Given the description of an element on the screen output the (x, y) to click on. 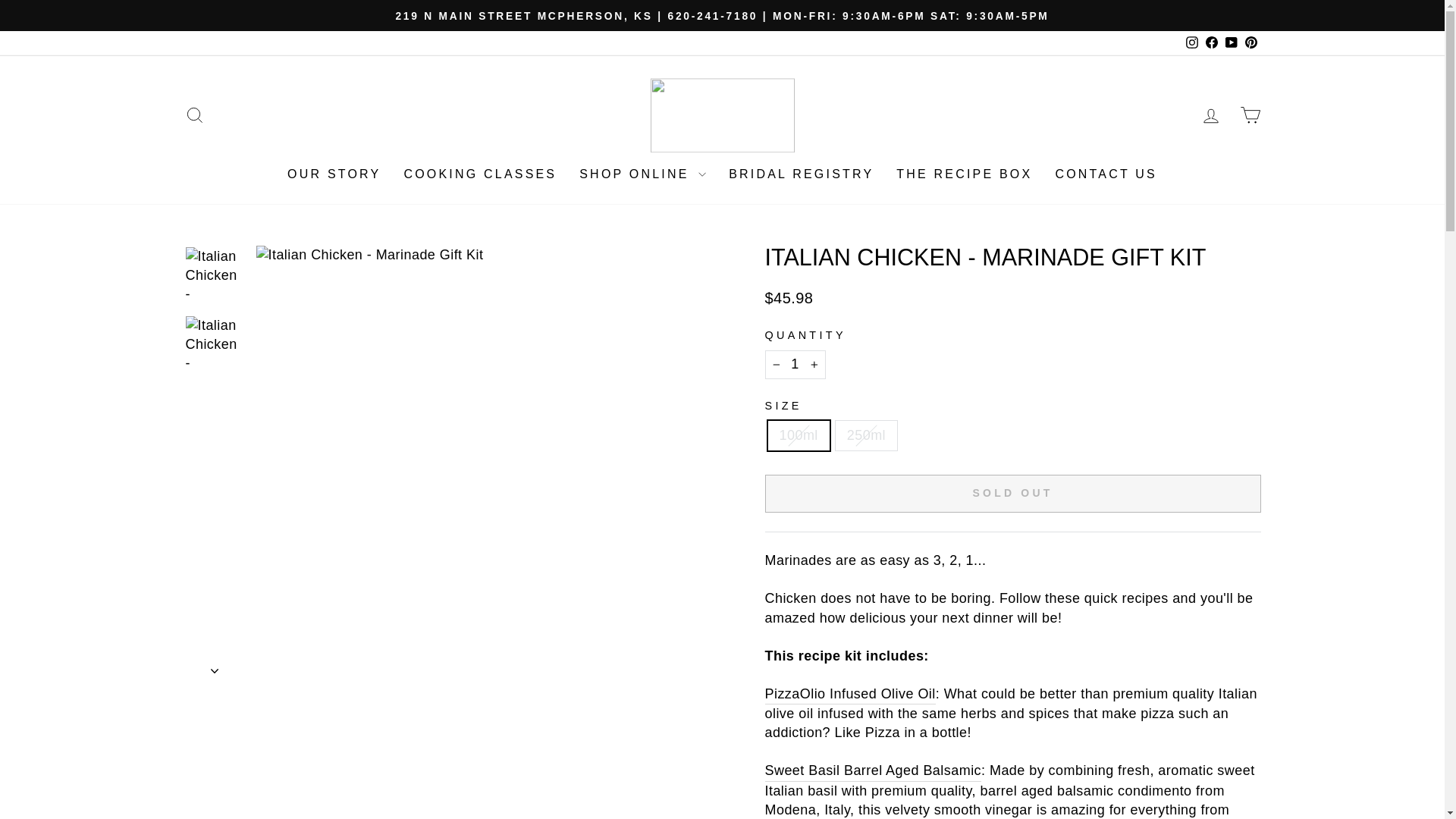
ICON-SEARCH (194, 115)
Sweet Basil Barrel Aged Balsamic (872, 771)
1 (794, 364)
ACCOUNT (1210, 115)
instagram (1192, 42)
PizzaOlio Infused Olive Oil (849, 694)
